Given the description of an element on the screen output the (x, y) to click on. 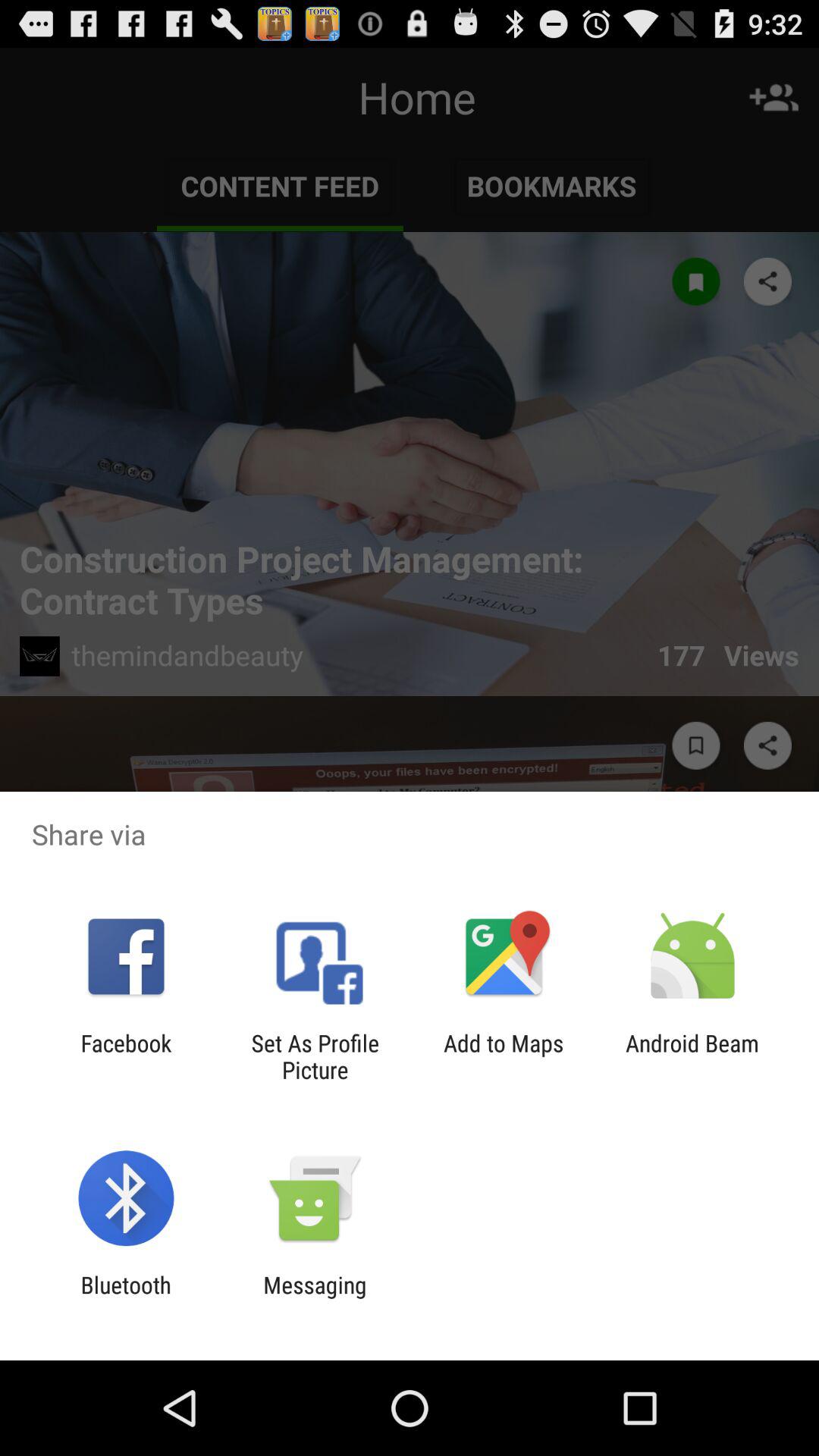
turn off the app to the right of facebook item (314, 1056)
